Given the description of an element on the screen output the (x, y) to click on. 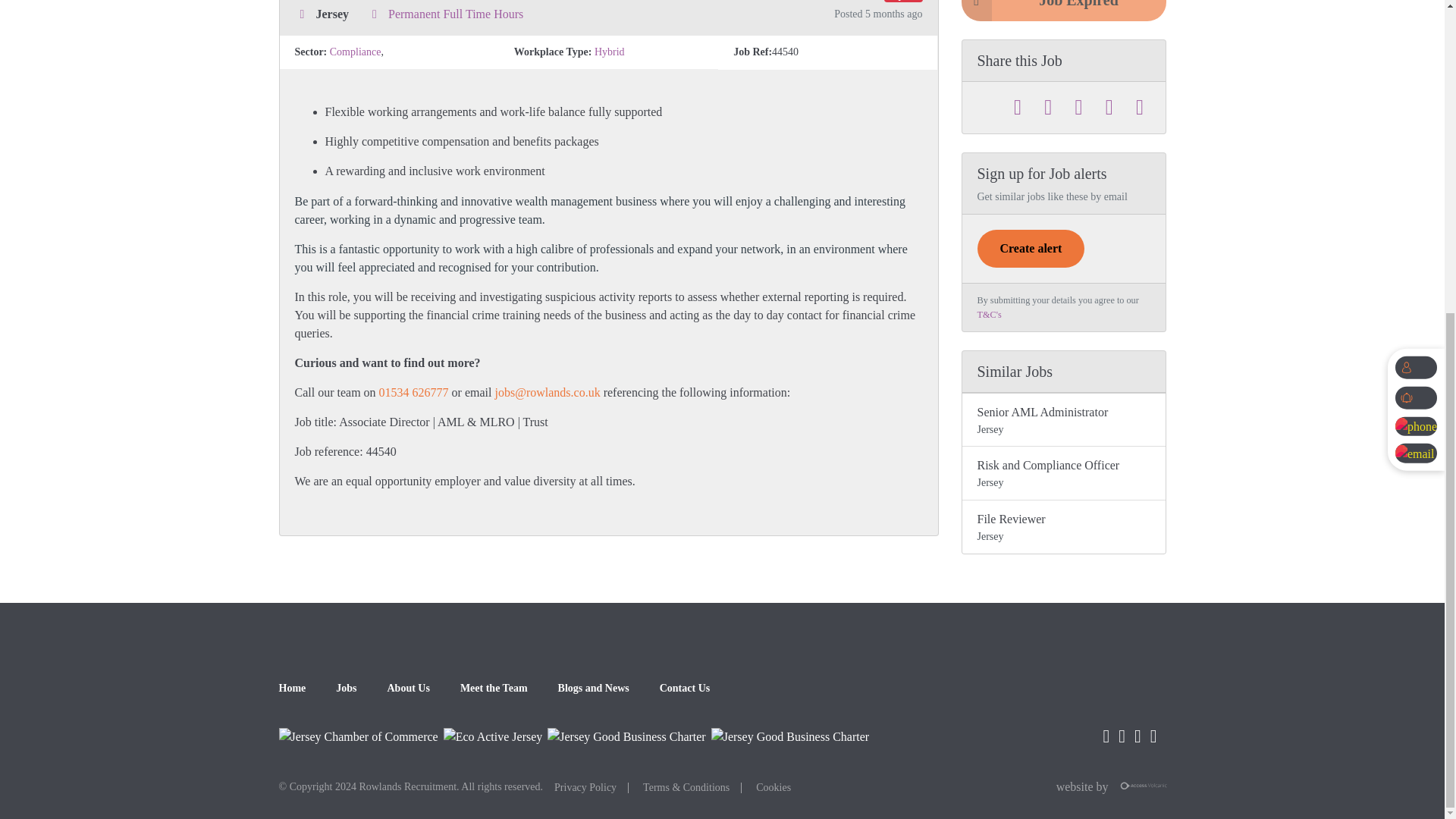
Email (1139, 107)
Job Type (373, 14)
LinkedIn (1078, 107)
Twitter (1017, 107)
Call  01534 626777 via 3CX (413, 391)
Facebook (1048, 107)
Location (301, 14)
WhatsApp (1109, 107)
